Given the description of an element on the screen output the (x, y) to click on. 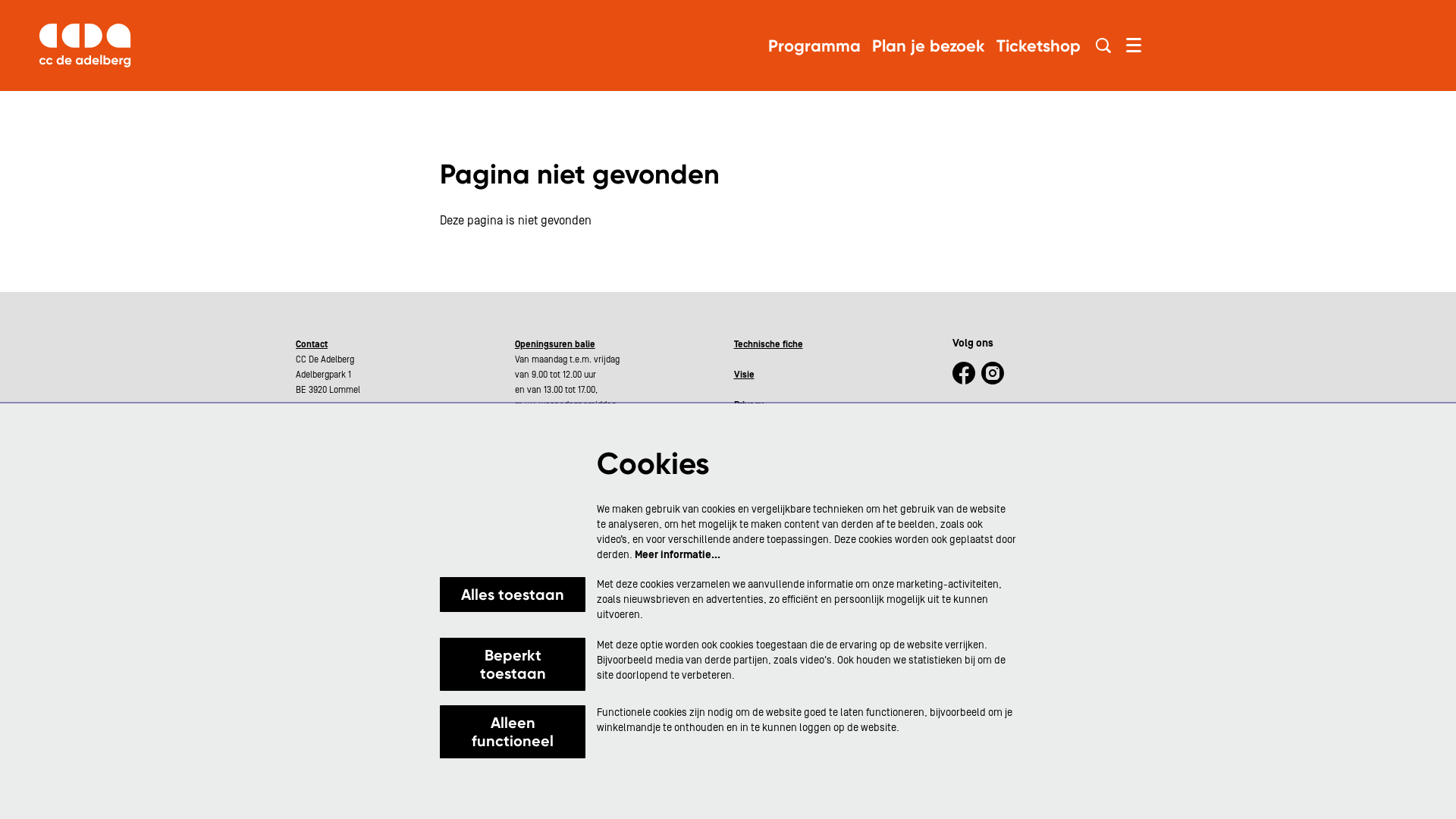
Ga naar homepage Element type: hover (84, 45)
Contact Element type: text (311, 344)
  Element type: text (382, 435)
Visie Element type: text (744, 374)
Openingsuren balie Element type: text (554, 344)
Beperkt toestaan Element type: text (512, 663)
Programma Element type: text (814, 44)
Aanmelden Element type: text (1005, 485)
reservaties@ccdeadelberg.be Element type: text (352, 450)
Alles toestaan Element type: text (512, 594)
Ticketshop Element type: text (1038, 44)
Cultuurbar Element type: text (755, 450)
Privacy Element type: text (748, 405)
info@ccdeadelberg.be Element type: text (338, 435)
Menu Element type: text (1133, 45)
Technische fiche Element type: text (768, 344)
Alleen functioneel Element type: text (512, 731)
Plan je bezoek Element type: text (928, 44)
